Given the description of an element on the screen output the (x, y) to click on. 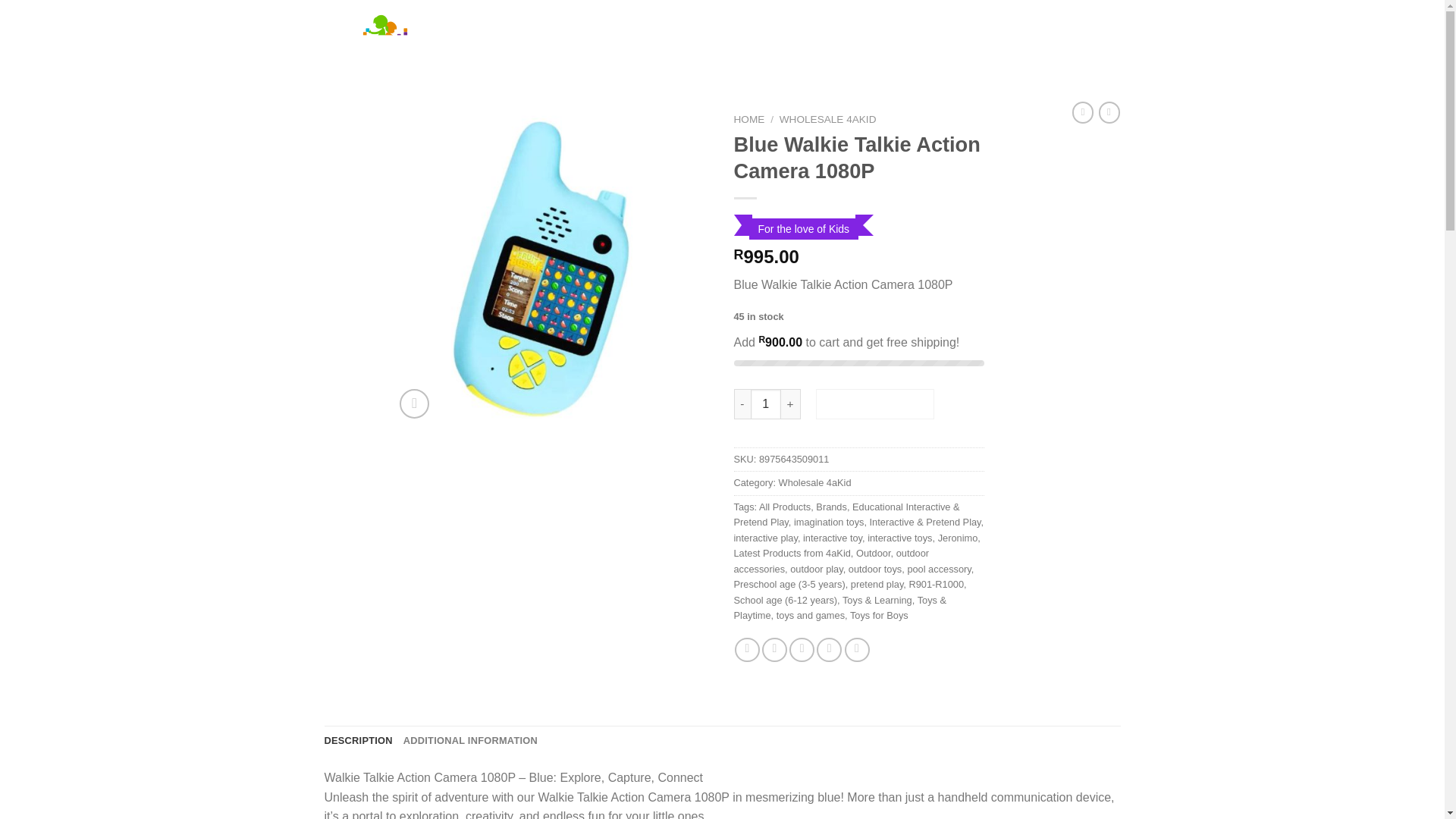
CONTACT (786, 27)
SHOP (680, 27)
HOME (630, 27)
Brands (831, 506)
interactive toy (832, 537)
Email to a Friend (801, 649)
HOME (749, 119)
Zoom (413, 403)
Share on LinkedIn (856, 649)
All Products (784, 506)
WHOLESALE 4AKID (827, 119)
Simply Kidz - Happiness For your little one (439, 38)
Wholesale 4aKid (814, 482)
LOGIN (963, 27)
Cart (1060, 28)
